Given the description of an element on the screen output the (x, y) to click on. 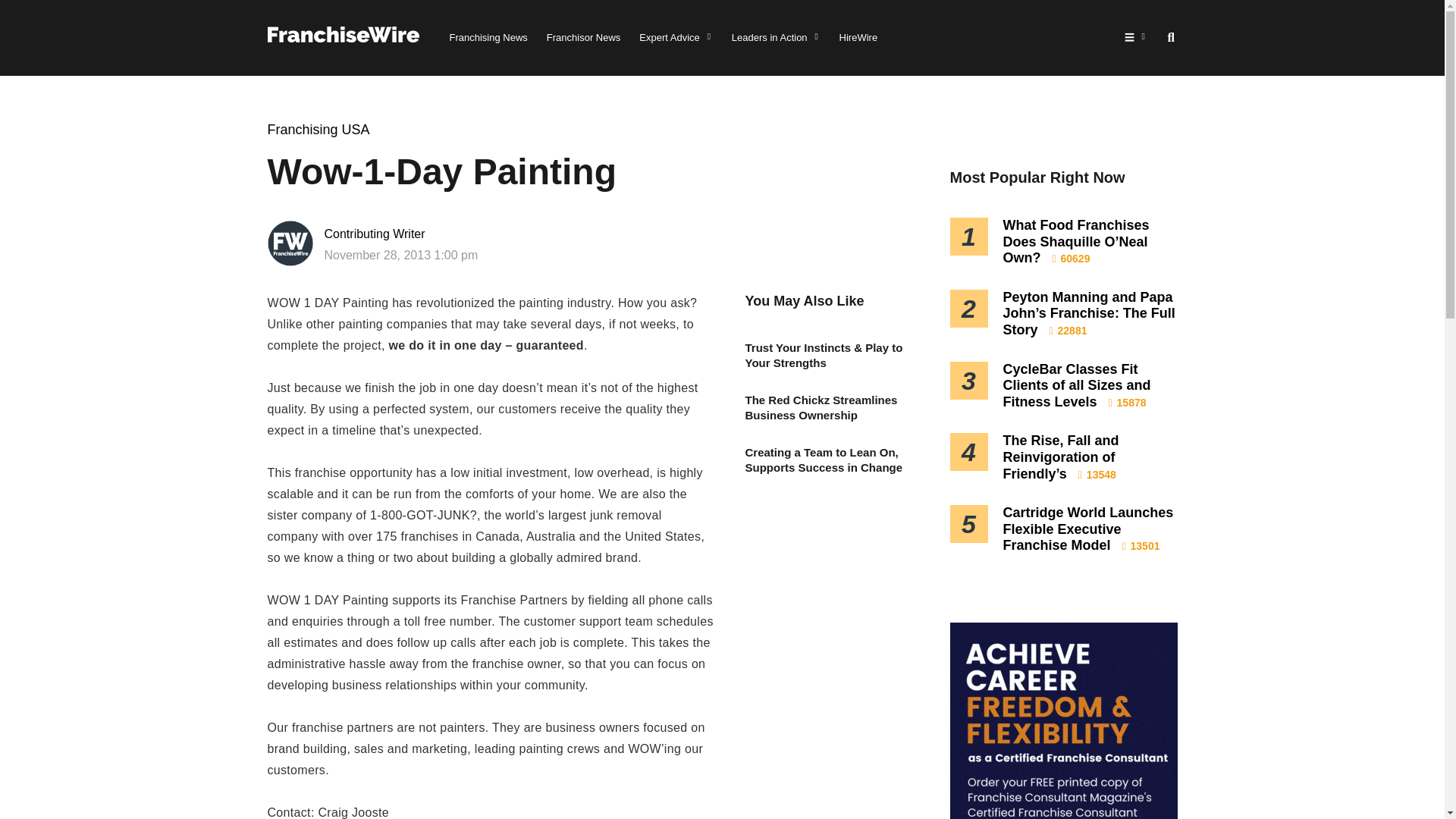
Views (1068, 330)
Expert Advice (676, 38)
Views (1071, 258)
Views (1127, 402)
Franchising USA (317, 129)
Leaders in Action (776, 38)
Contributing Writer (422, 233)
Franchisor News (584, 38)
Franchising News (487, 38)
